Given the description of an element on the screen output the (x, y) to click on. 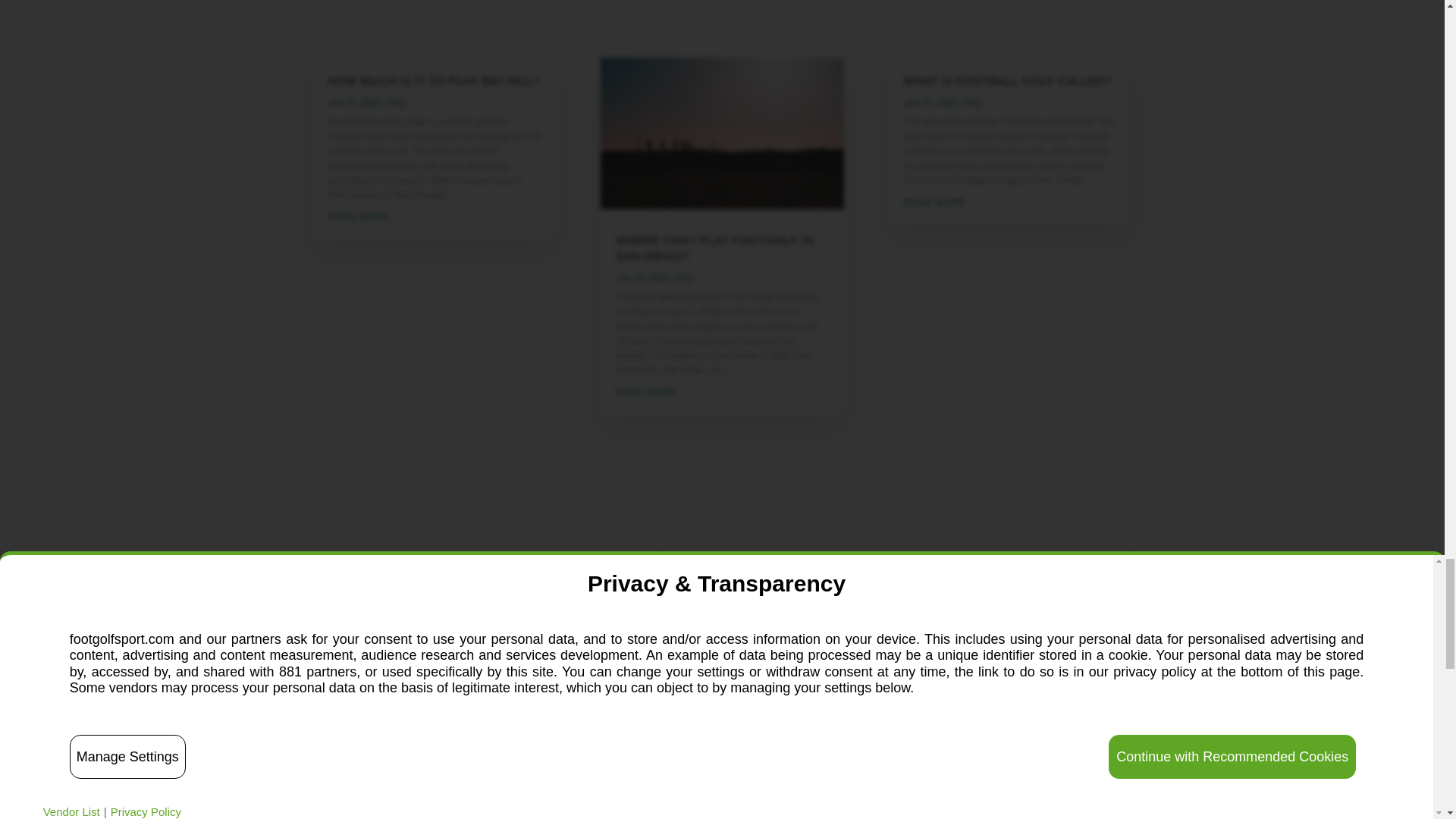
READ MORE (721, 391)
FAQ (397, 102)
HOW MUCH IS IT TO PLAY BAY HILL? (433, 80)
FAQ (684, 277)
WHERE CAN I PLAY FOOTGOLF IN SAN DIEGO? (714, 247)
READ MORE (433, 216)
